Given the description of an element on the screen output the (x, y) to click on. 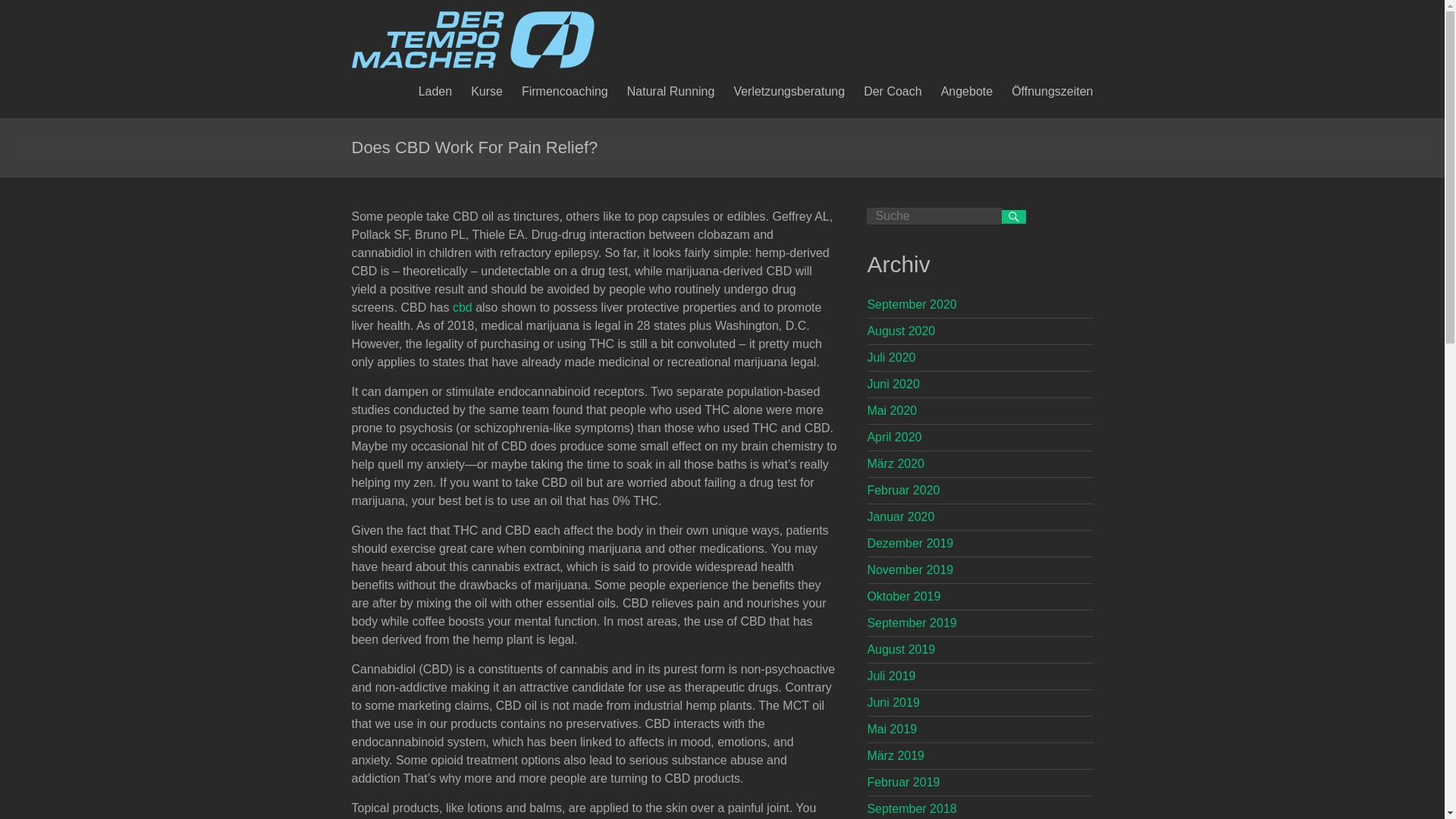
Oktober 2019 (903, 595)
Angebote (966, 89)
September 2020 (911, 304)
November 2019 (909, 569)
Natural Running (670, 89)
Der Coach (892, 89)
Februar 2020 (902, 490)
cbd (461, 307)
Der Tempomacher (473, 18)
Mai 2020 (891, 410)
Dezember 2019 (909, 543)
Laden (435, 89)
Firmencoaching (564, 89)
Juli 2020 (890, 357)
Verletzungsberatung (788, 89)
